Given the description of an element on the screen output the (x, y) to click on. 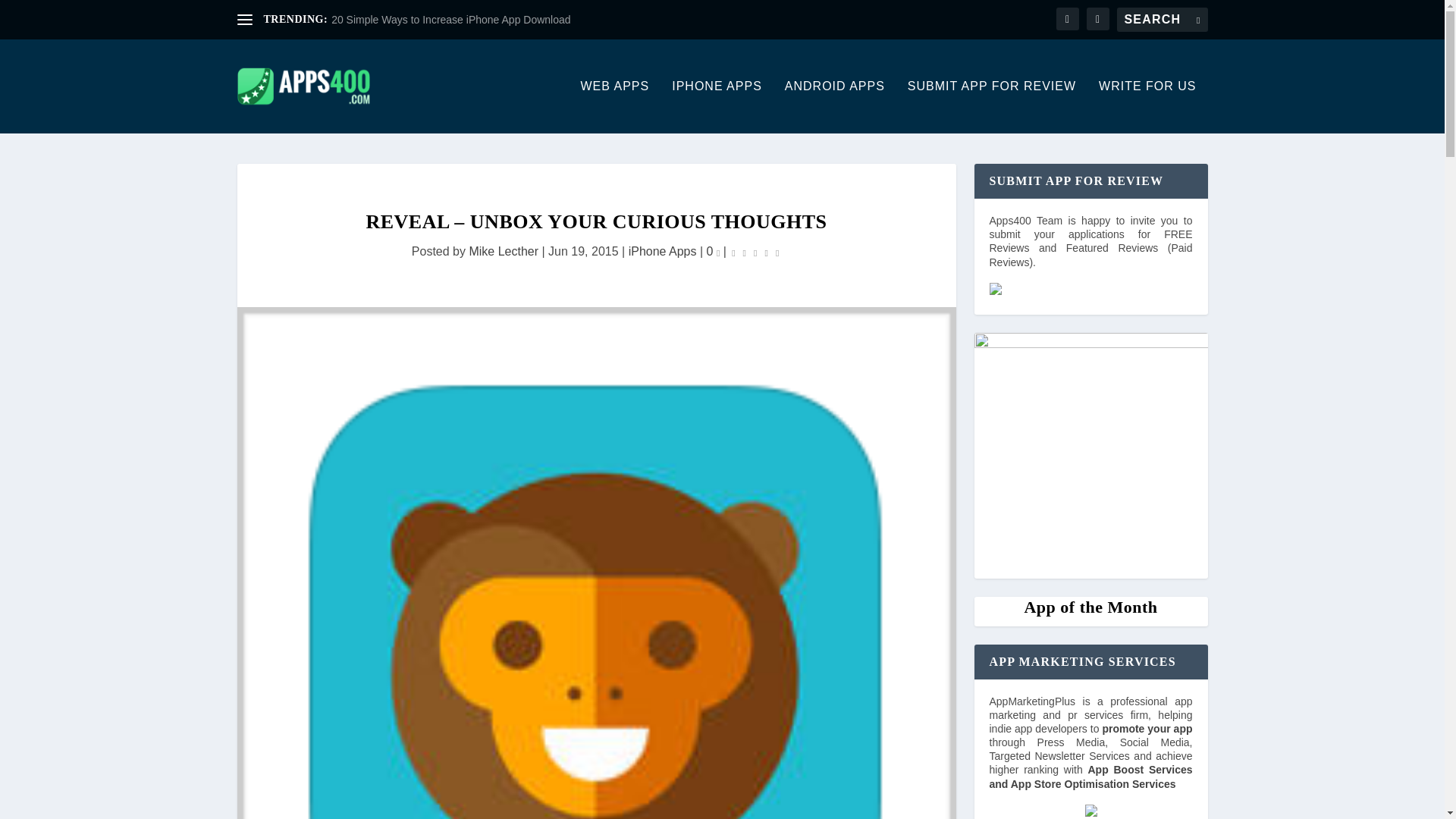
Search for: (1161, 19)
Posts by Mike Lecther (503, 250)
0 (713, 250)
Rating: 0.00 (754, 251)
WEB APPS (614, 106)
iPhone Apps (662, 250)
20 Simple Ways to Increase iPhone App Download (450, 19)
IPHONE APPS (716, 106)
WRITE FOR US (1147, 106)
SUBMIT APP FOR REVIEW (991, 106)
